Given the description of an element on the screen output the (x, y) to click on. 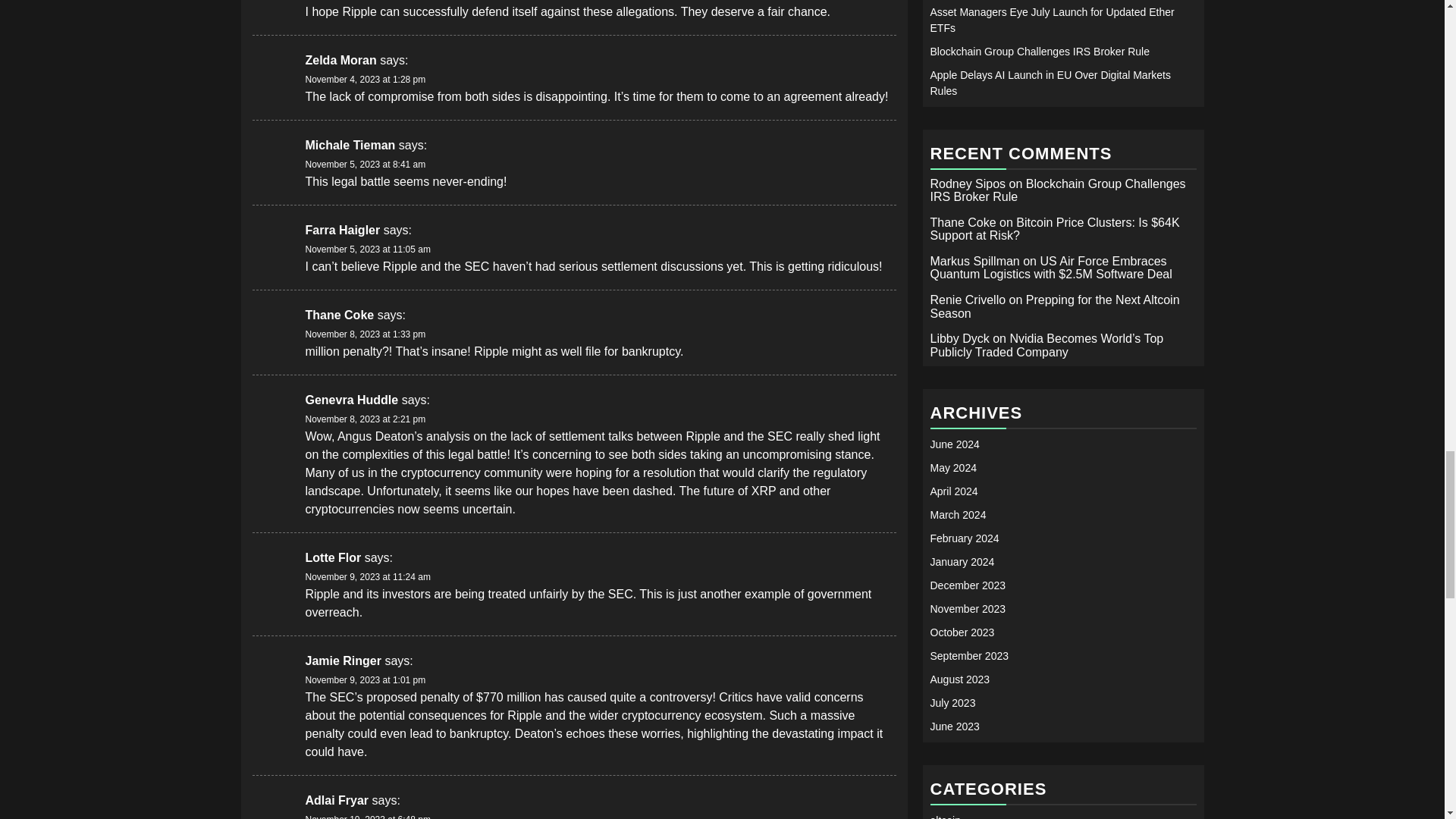
November 5, 2023 at 8:41 am (364, 163)
November 4, 2023 at 1:28 pm (364, 79)
